Given the description of an element on the screen output the (x, y) to click on. 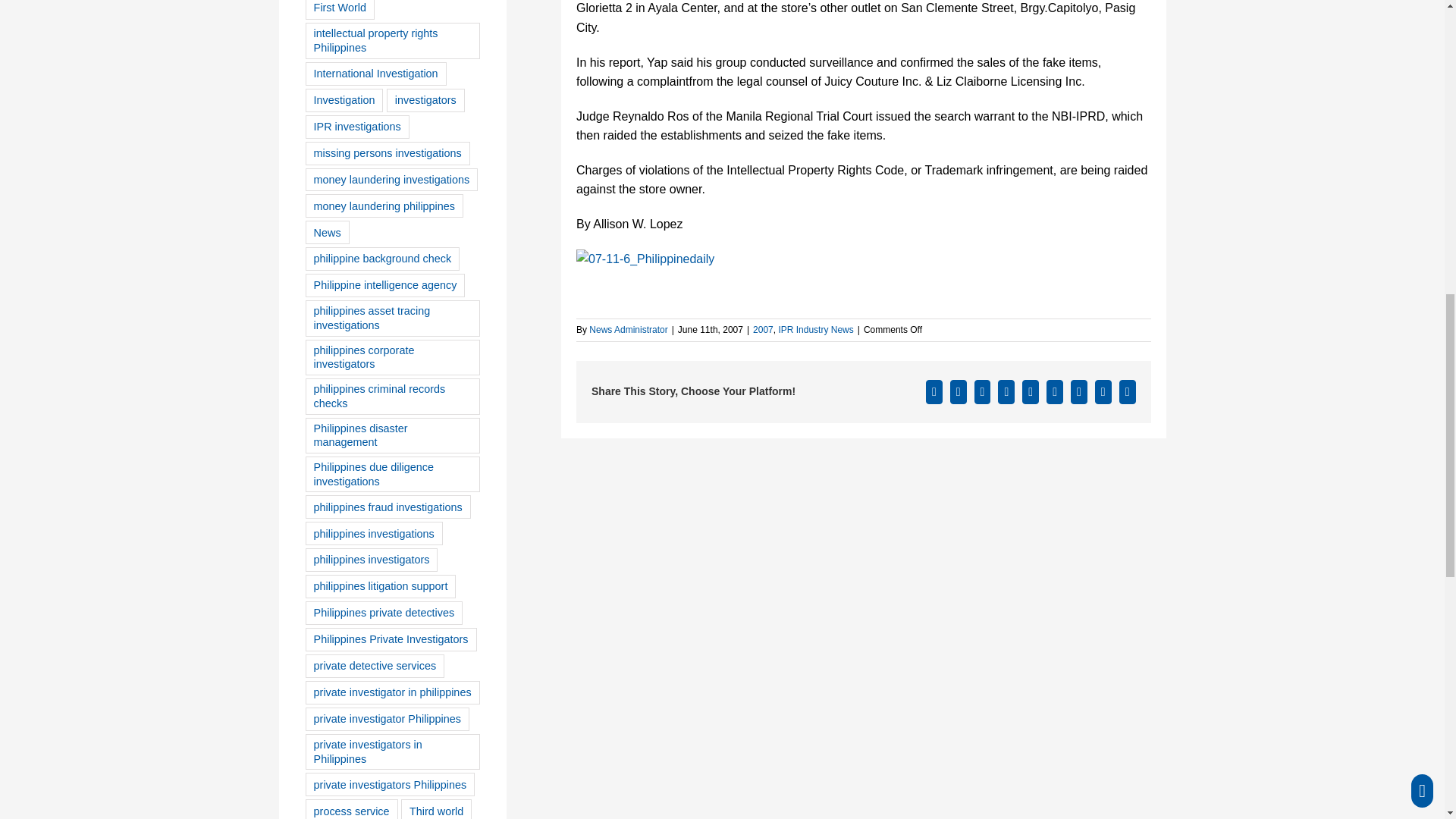
Posts by News Administrator (627, 329)
